Given the description of an element on the screen output the (x, y) to click on. 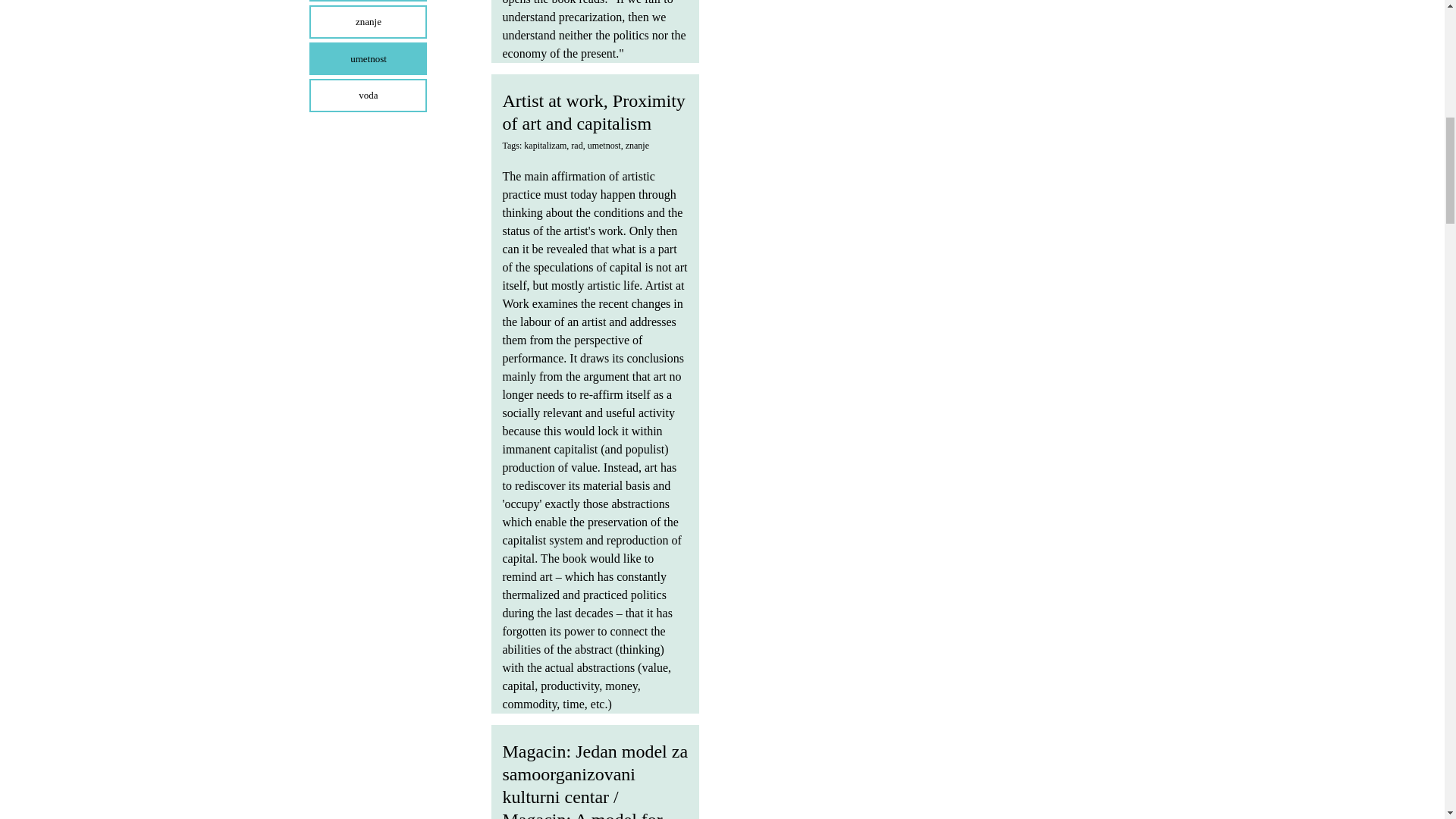
znanje (637, 145)
umetnost (604, 145)
rad (576, 145)
Artist at work, Proximity of art and capitalism (593, 111)
kapitalizam (545, 145)
